Given the description of an element on the screen output the (x, y) to click on. 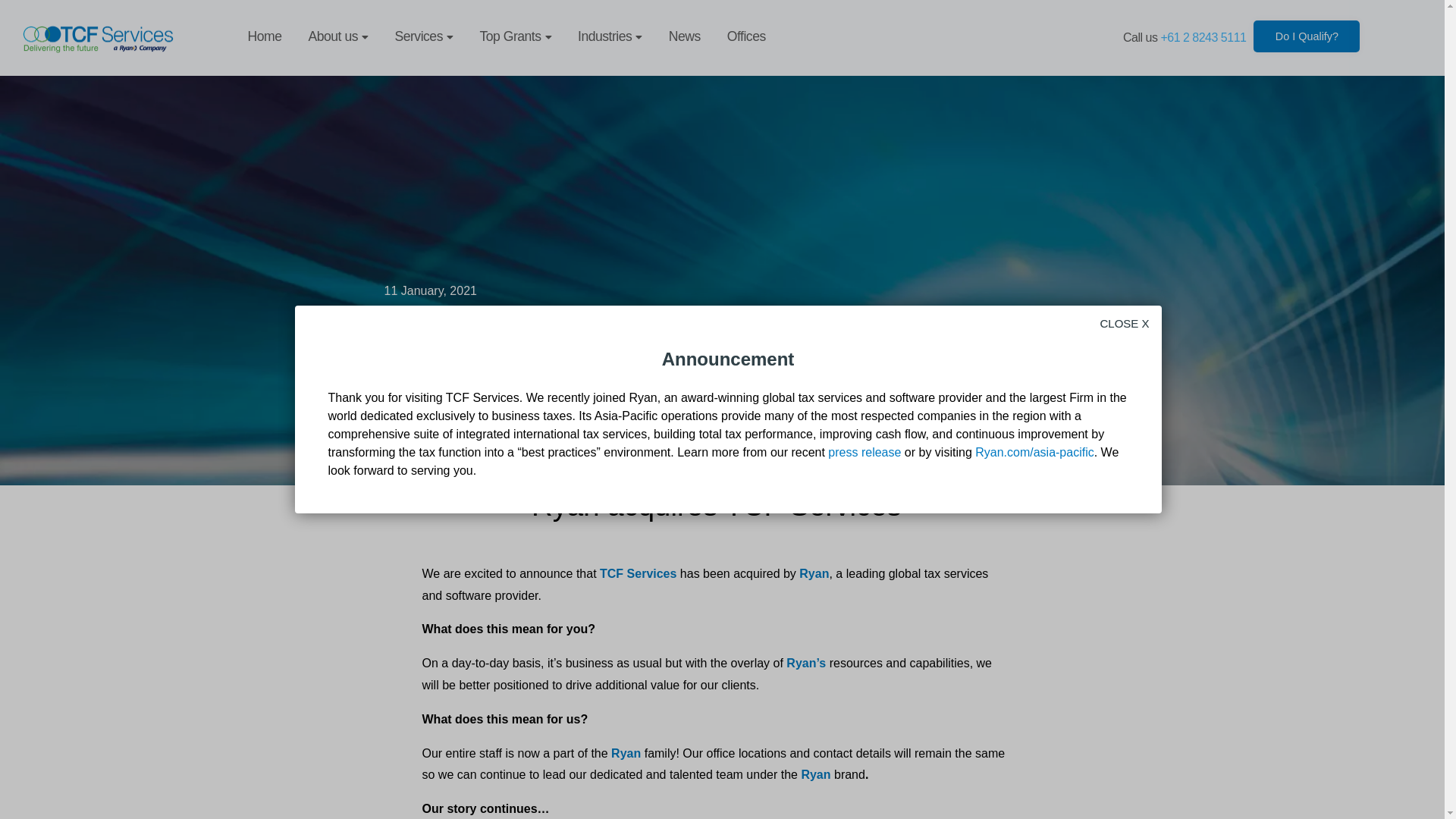
Offices Element type: text (746, 37)
Ryan Element type: text (815, 774)
Home Element type: text (264, 37)
Call us +61 2 8243 5111 Element type: text (1184, 37)
Ryan Element type: text (625, 752)
About us Element type: text (338, 37)
News Element type: text (684, 37)
Top Grants Element type: text (515, 37)
Services Element type: text (423, 37)
Ryan.com/asia-pacific Element type: text (1034, 451)
Ryan Element type: text (813, 573)
CLOSE X Element type: text (1123, 323)
Do I Qualify? Element type: text (1306, 36)
TCF Services Element type: text (637, 573)
press release Element type: text (864, 451)
Industries Element type: text (609, 37)
